Given the description of an element on the screen output the (x, y) to click on. 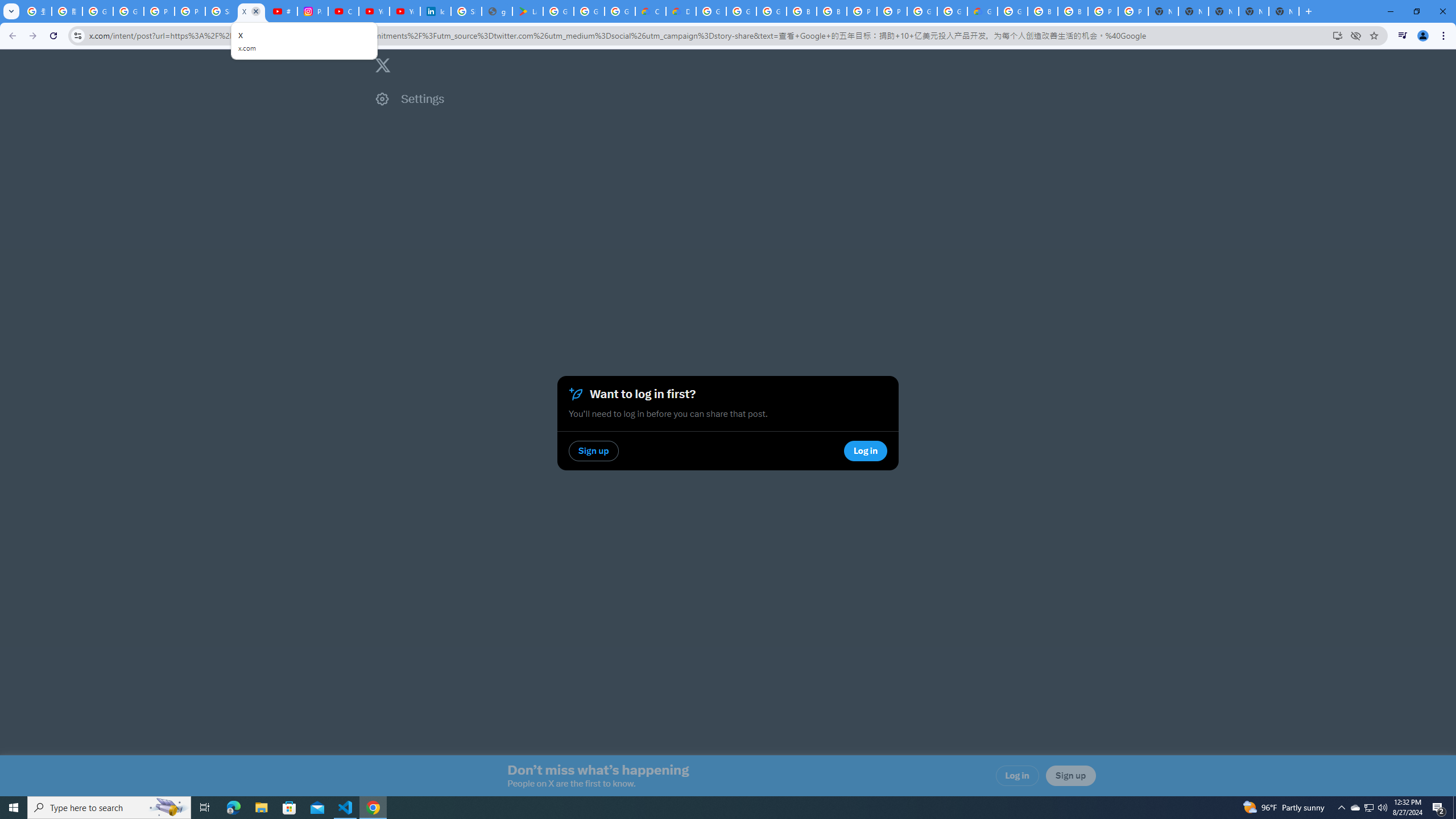
Control your music, videos, and more (1402, 35)
X (251, 11)
Privacy Help Center - Policies Help (189, 11)
Google Workspace - Specific Terms (589, 11)
Customer Care | Google Cloud (650, 11)
google_privacy_policy_en.pdf (496, 11)
YouTube Culture & Trends - YouTube Top 10, 2021 (404, 11)
Sign up (1070, 775)
